Given the description of an element on the screen output the (x, y) to click on. 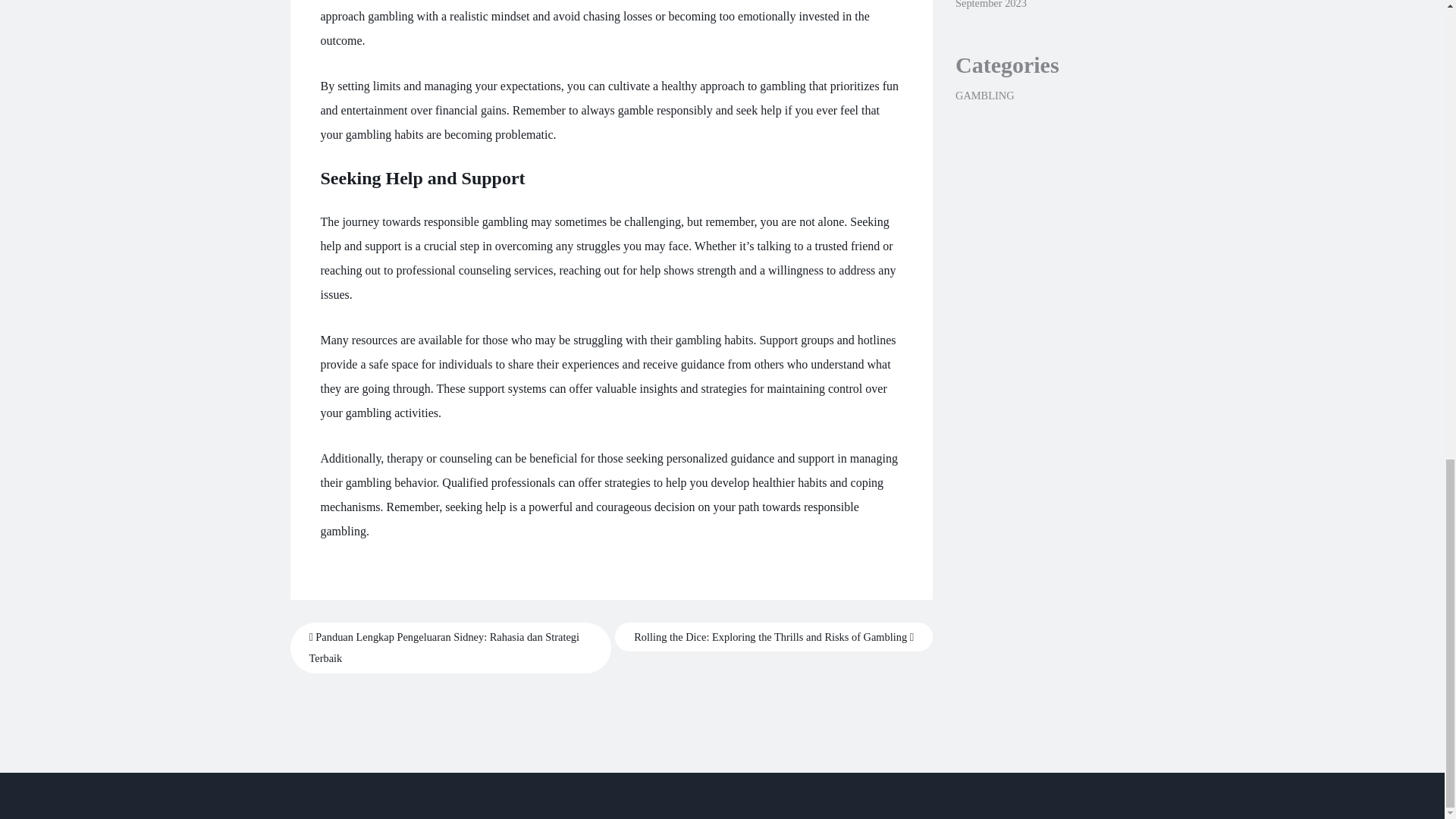
September 2023 (990, 4)
GAMBLING (984, 95)
